Given the description of an element on the screen output the (x, y) to click on. 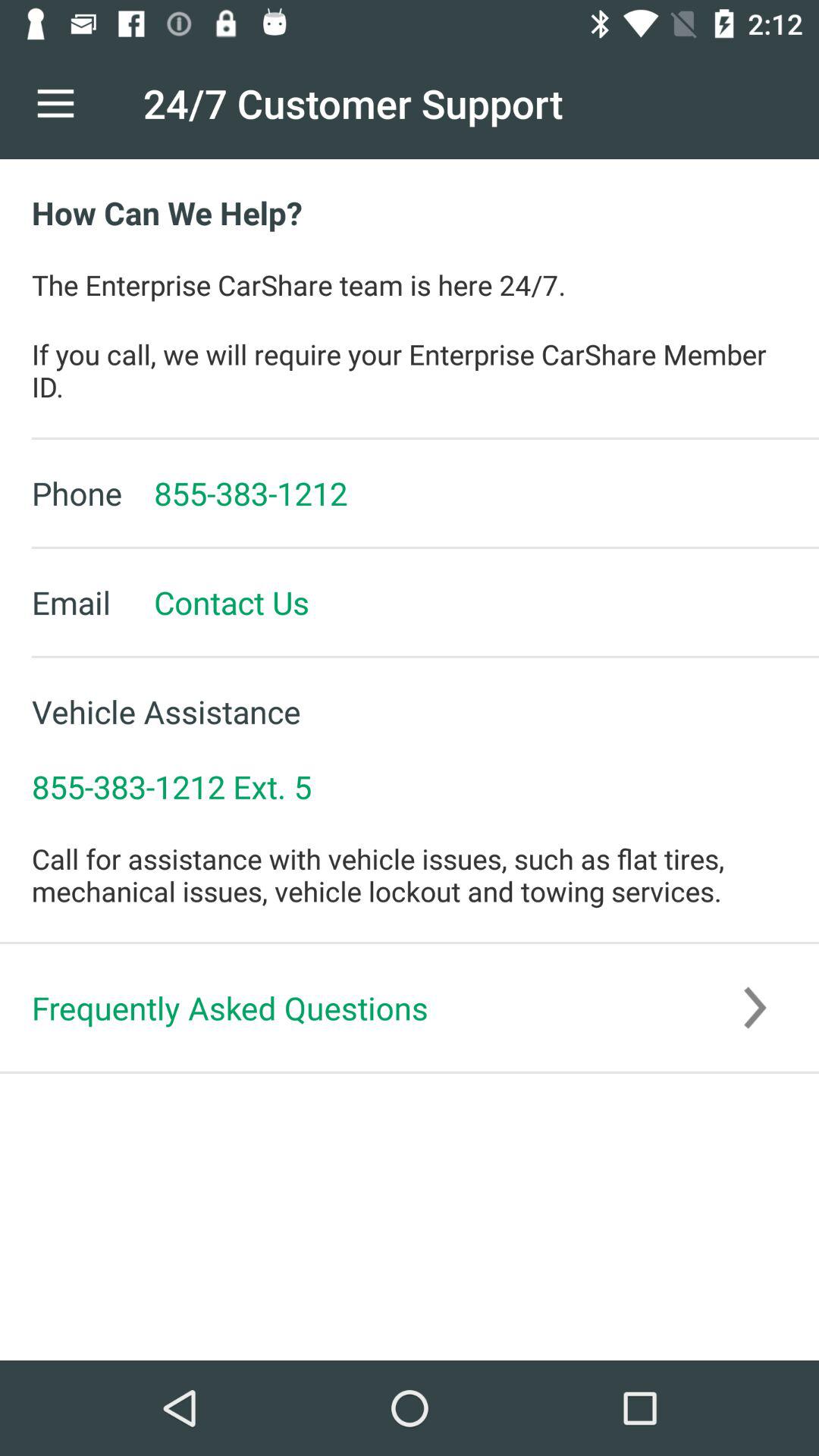
open contact us item (215, 601)
